Given the description of an element on the screen output the (x, y) to click on. 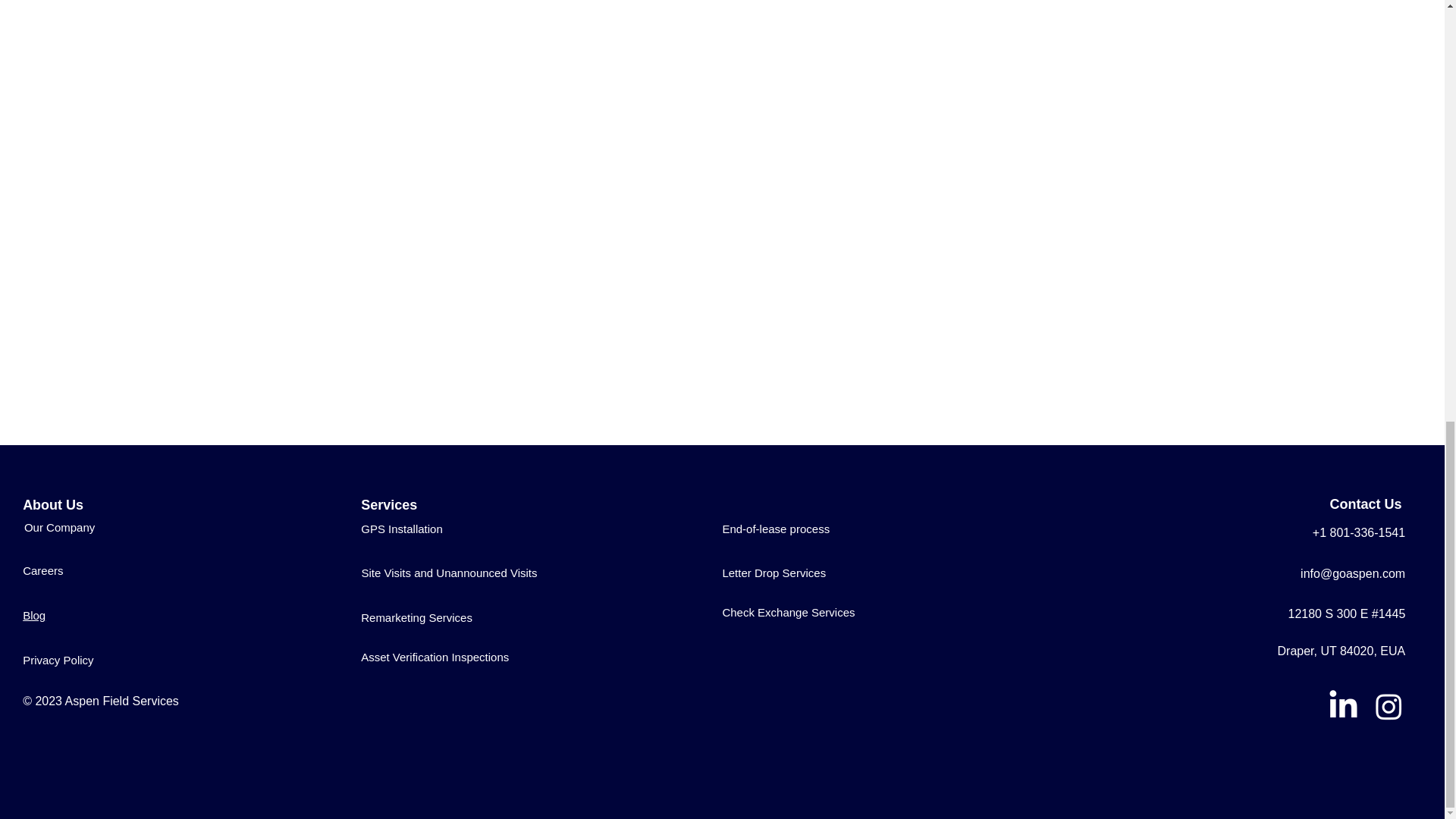
GPS Installation (401, 528)
Remarketing Services (416, 616)
Letter Drop Services (773, 572)
Check Exchange Services (788, 611)
Site Visits and Unannounced Visits (449, 572)
Blog (34, 615)
Privacy Policy (58, 659)
Careers (42, 570)
Asset Verification Inspections (434, 656)
End-of-lease process (775, 528)
